Given the description of an element on the screen output the (x, y) to click on. 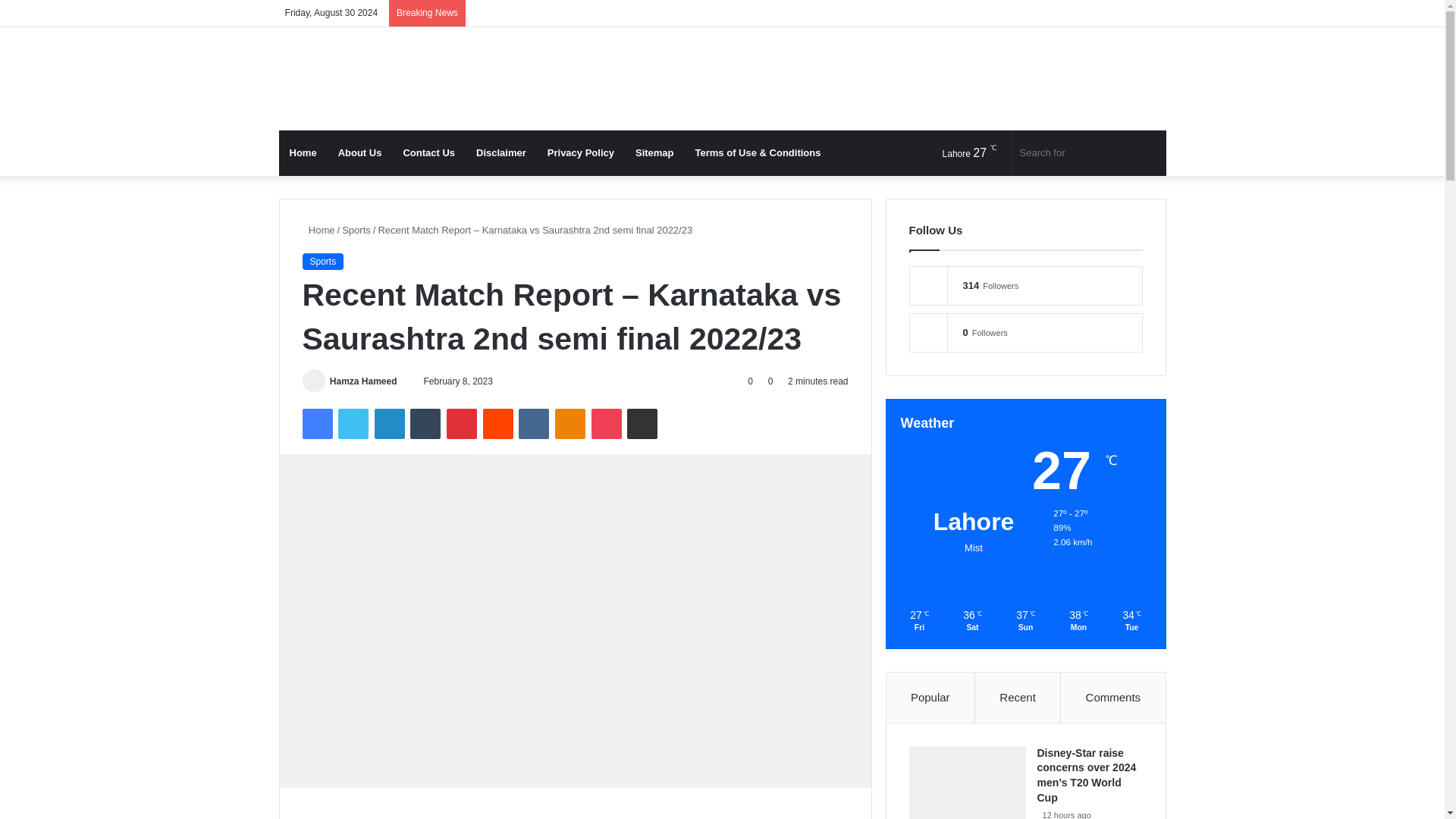
Contact Us (428, 153)
Pinterest (461, 423)
Mist (955, 153)
Pinterest (461, 423)
Sitemap (654, 153)
Twitter (352, 423)
VKontakte (533, 423)
Privacy Policy (580, 153)
Sports (322, 261)
Home (317, 229)
